Given the description of an element on the screen output the (x, y) to click on. 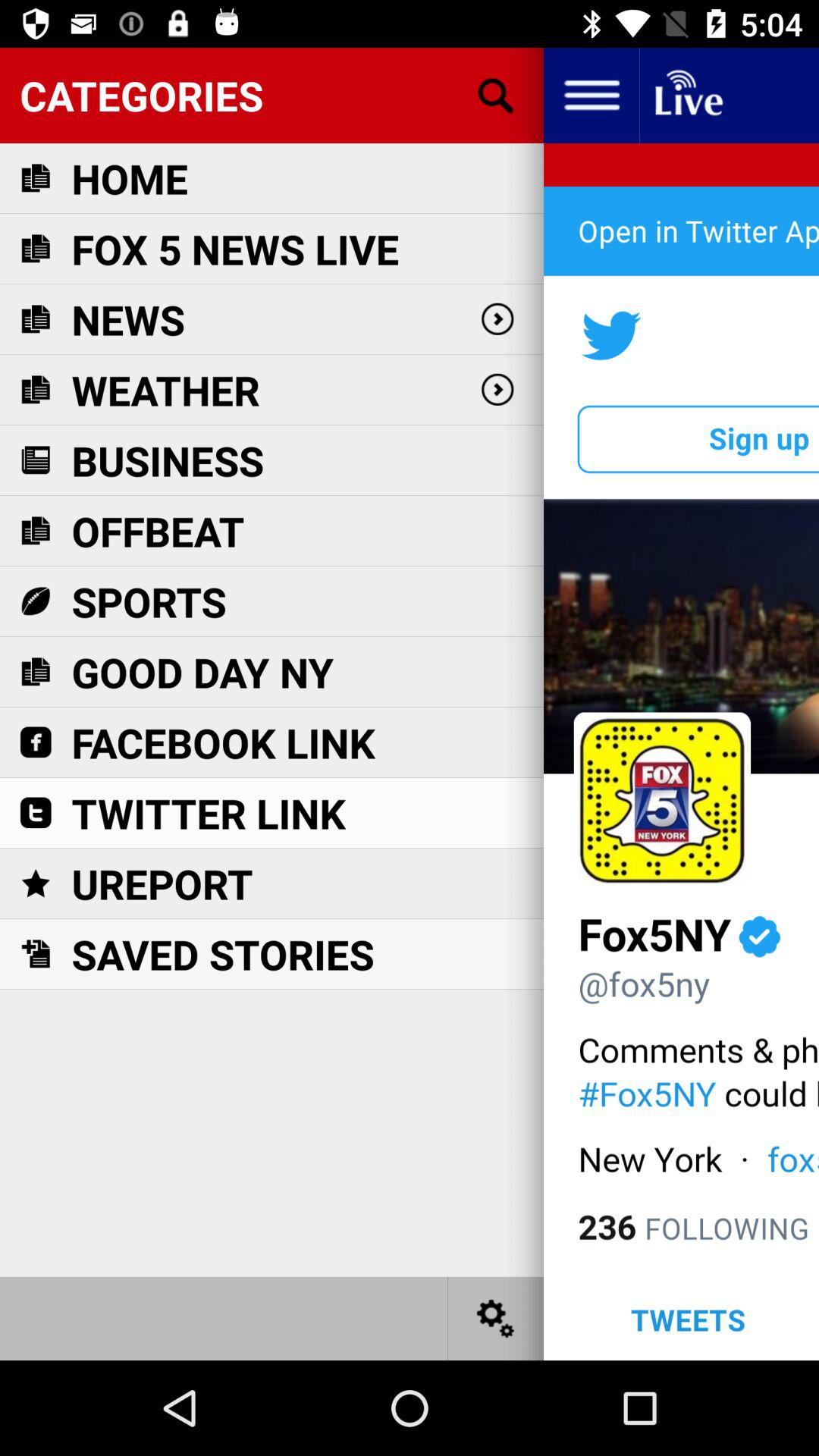
collapse sidebar (591, 95)
